Given the description of an element on the screen output the (x, y) to click on. 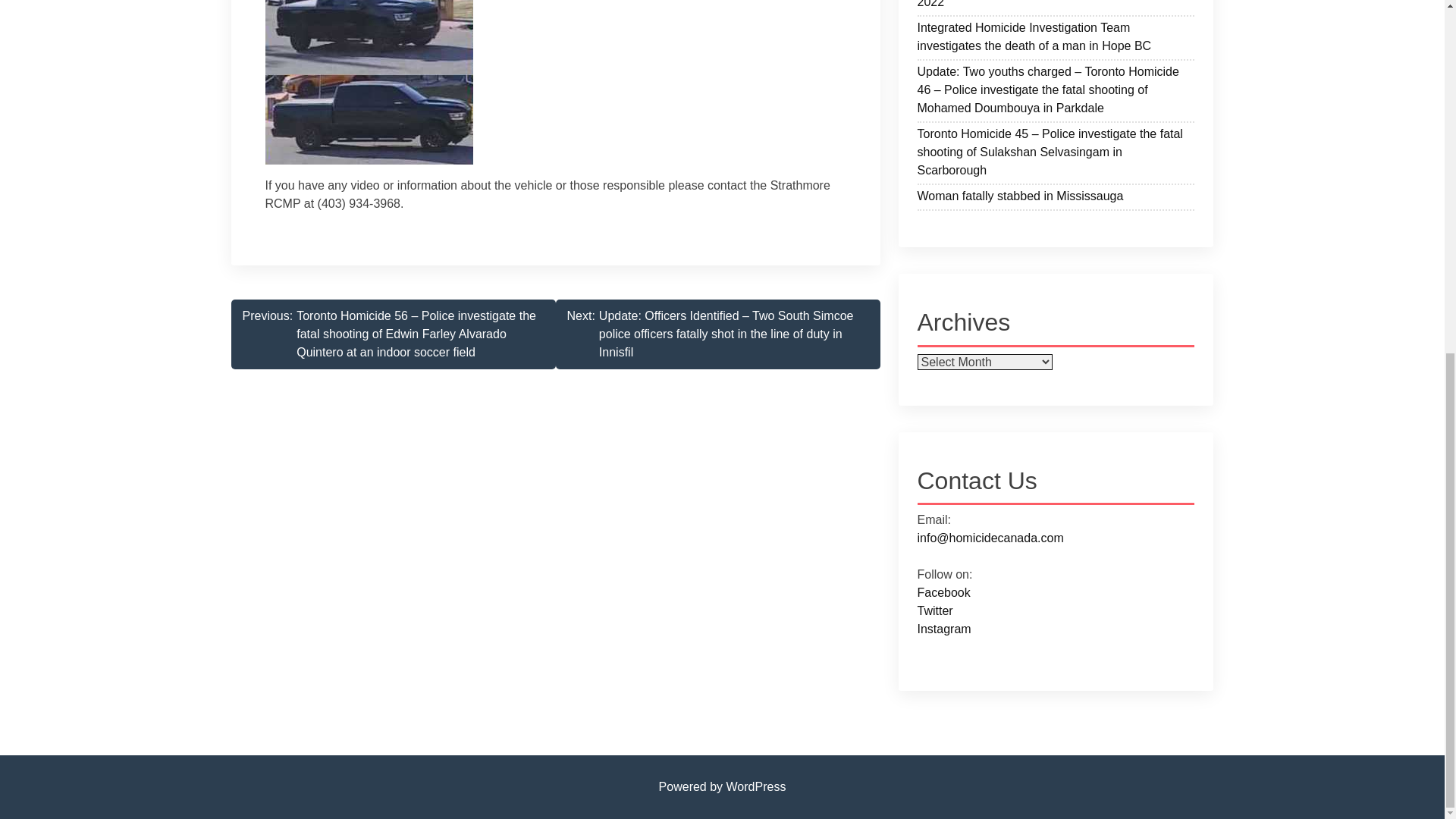
Woman fatally stabbed in Mississauga (1056, 198)
Powered by WordPress (722, 786)
Twitter (935, 610)
Instagram (944, 628)
Facebook (944, 592)
